Given the description of an element on the screen output the (x, y) to click on. 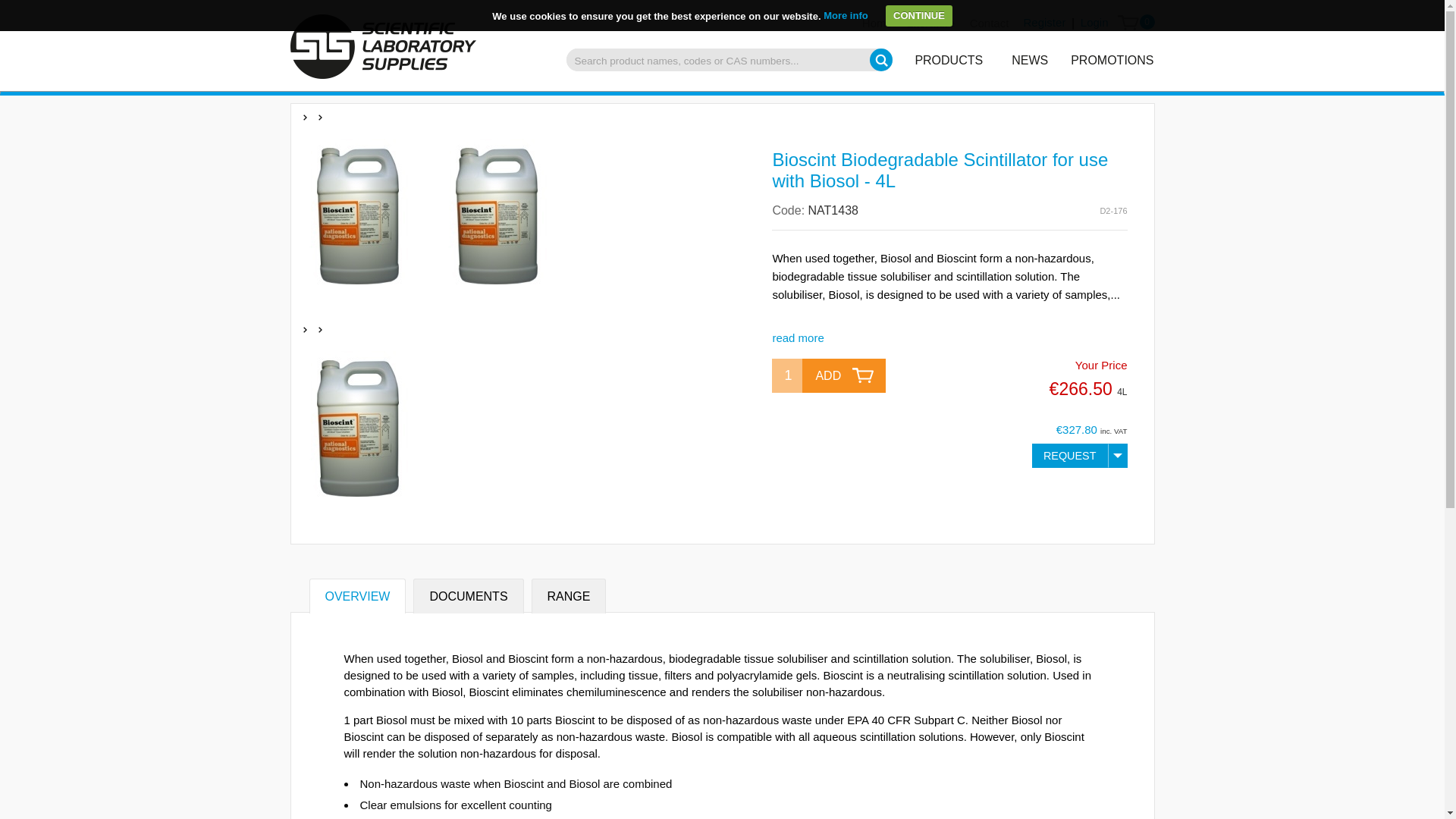
CONTINUE (918, 14)
Home (876, 23)
1 (790, 375)
PROMOTIONS (1113, 59)
Bioscint Biodegradable Scintillator for use with Biosol - 4L (939, 169)
Login (1093, 22)
PRODUCTS (948, 59)
Register (1042, 22)
Add to Basket (843, 375)
Auto Refresh (5, 2)
